Given the description of an element on the screen output the (x, y) to click on. 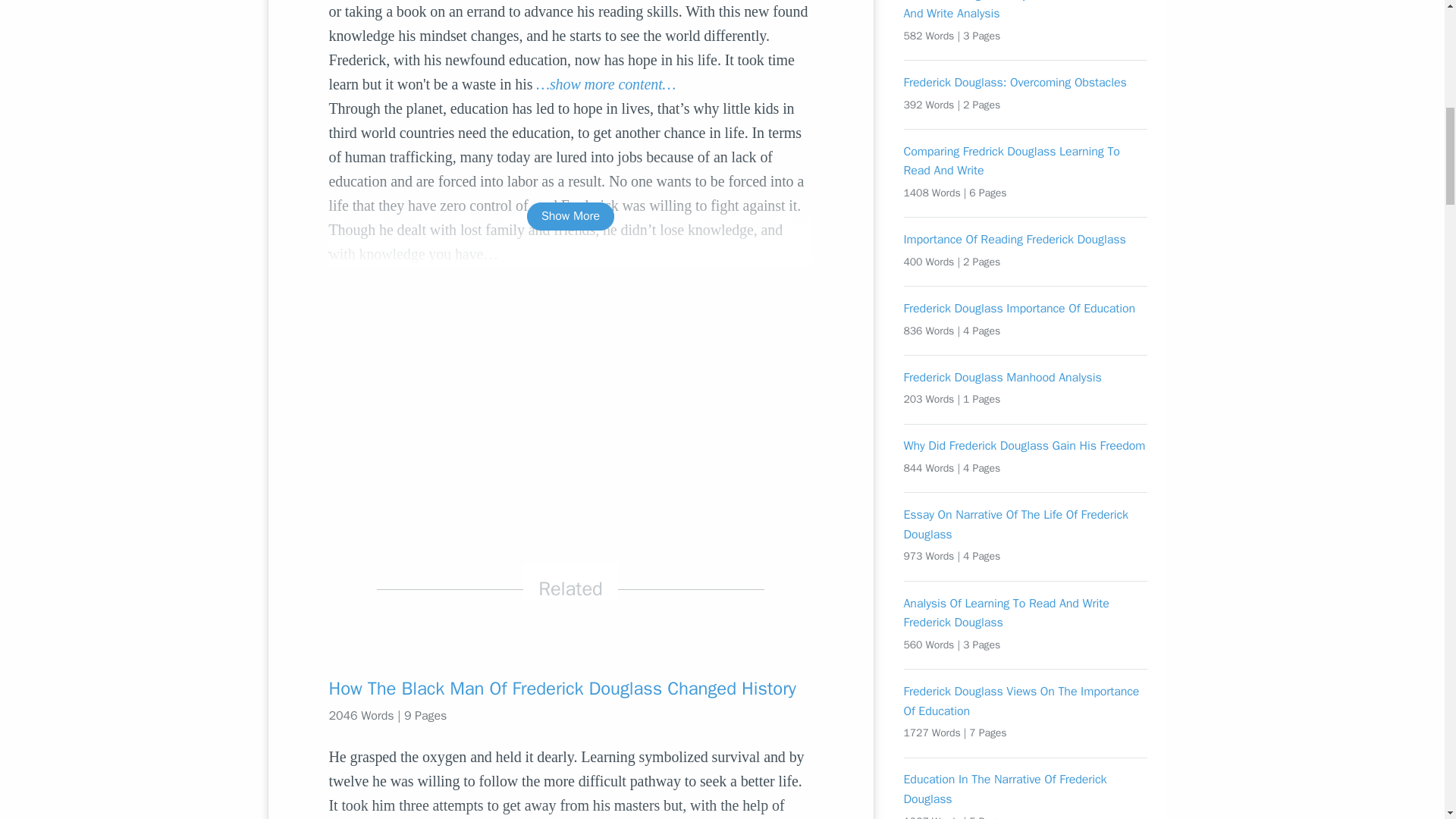
How The Black Man Of Frederick Douglass Changed History (570, 688)
Show More (570, 216)
